Given the description of an element on the screen output the (x, y) to click on. 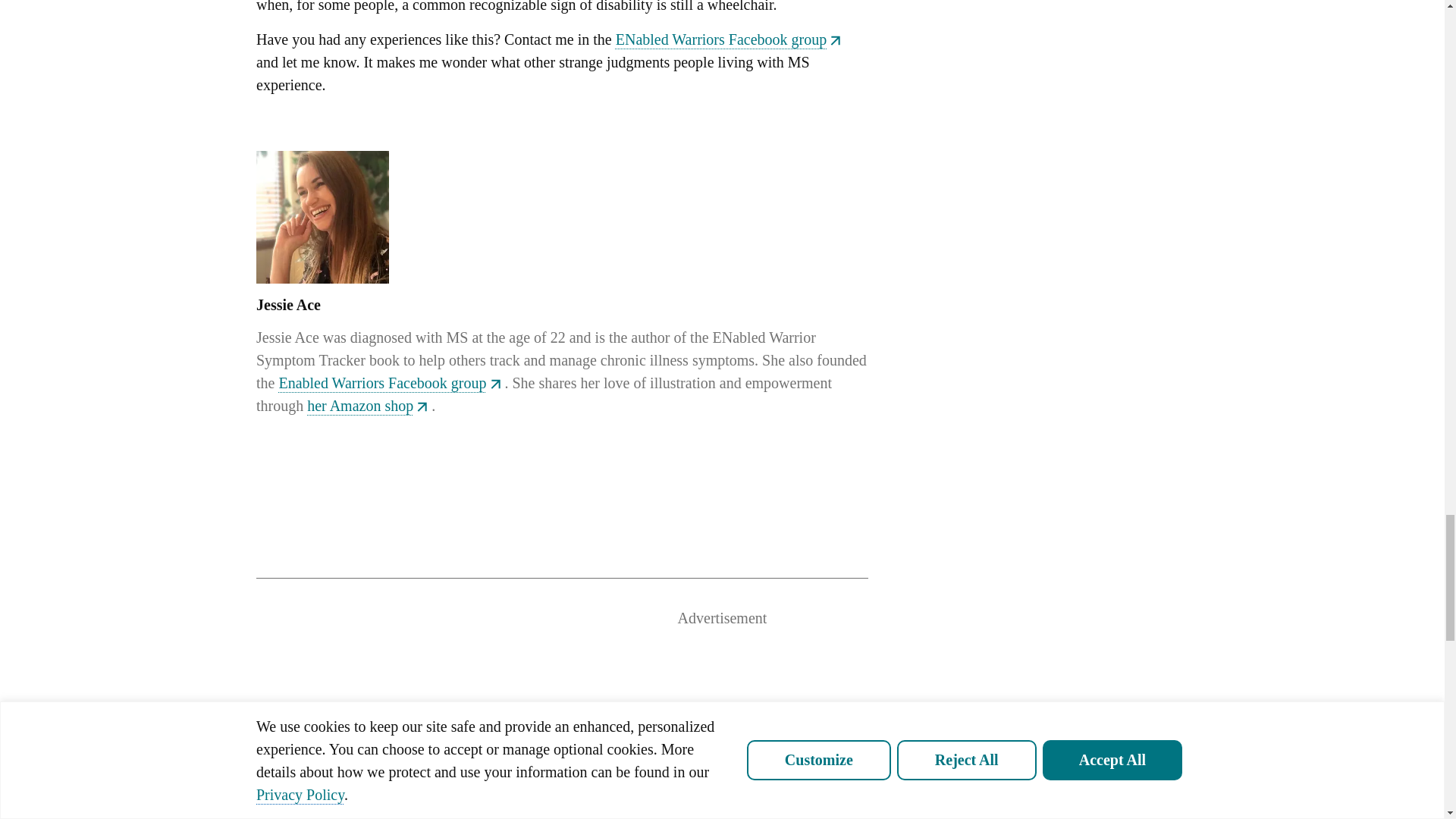
Summer 2024 (362, 816)
Spring 2024 (601, 816)
Fall 2023 (1081, 816)
